Given the description of an element on the screen output the (x, y) to click on. 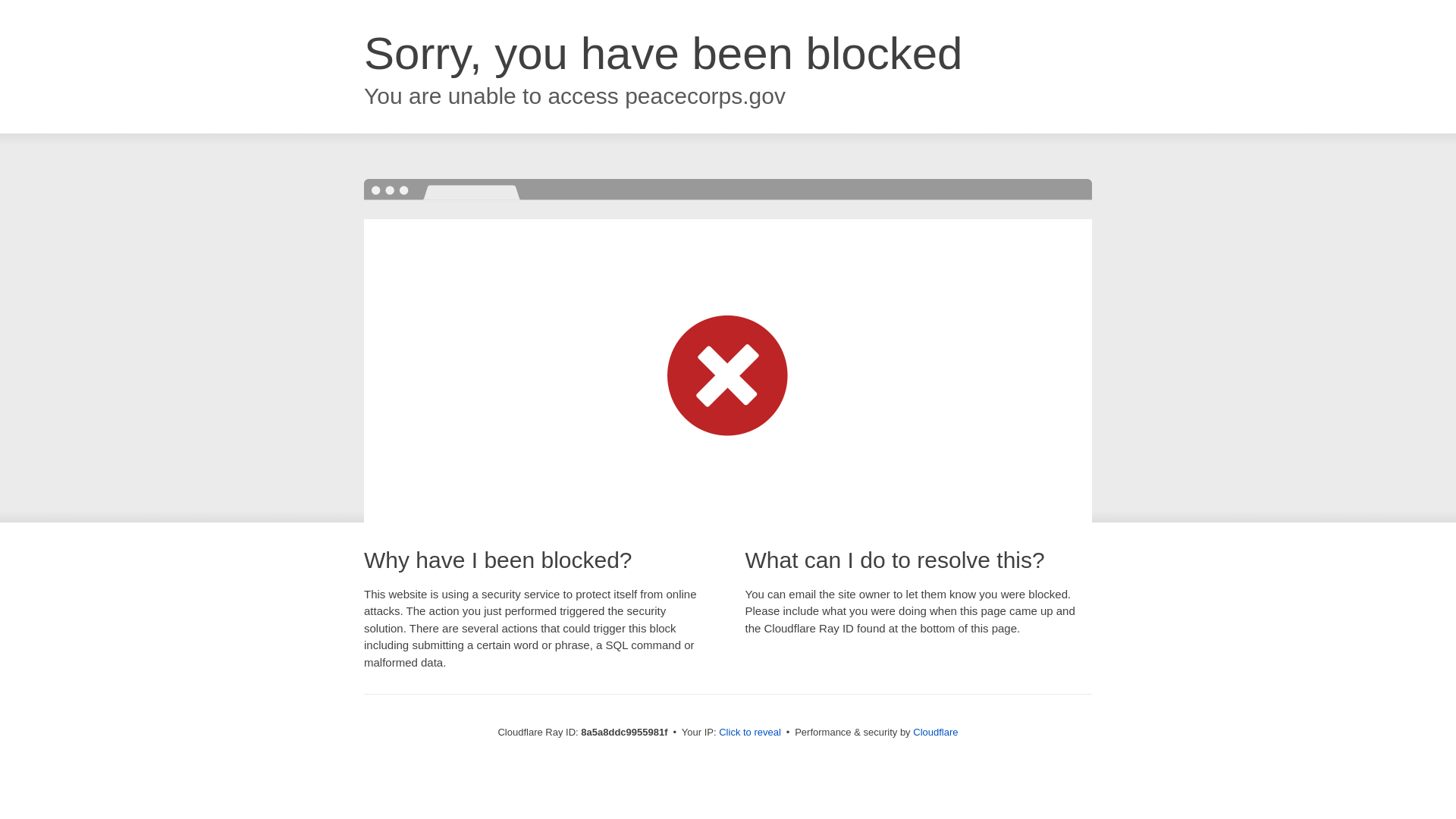
Cloudflare (935, 731)
Click to reveal (749, 732)
